Given the description of an element on the screen output the (x, y) to click on. 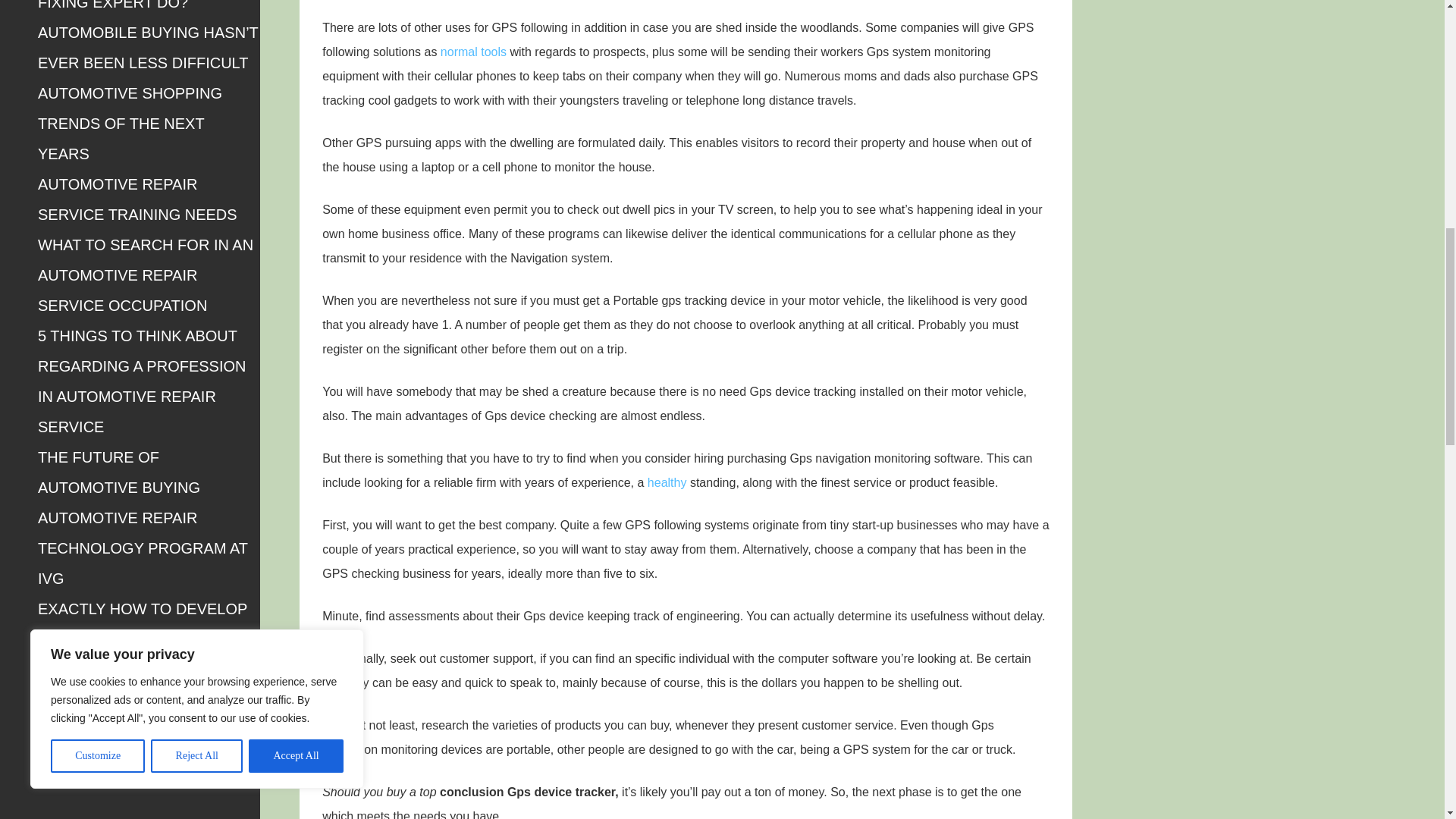
healthy (667, 481)
normal tools (473, 51)
